Given the description of an element on the screen output the (x, y) to click on. 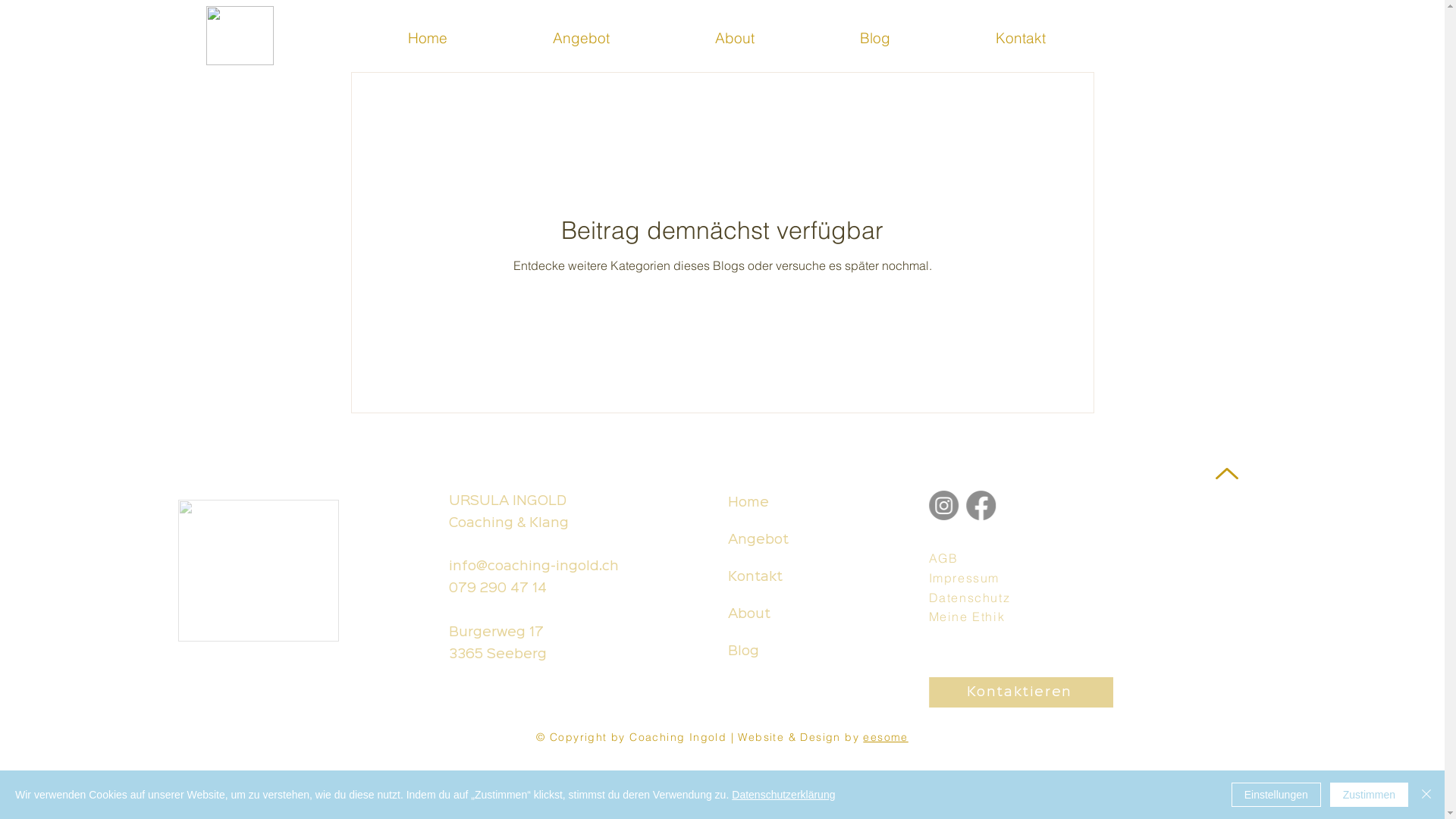
Home Element type: text (801, 502)
Blog Element type: text (915, 35)
Kontakt Element type: text (1061, 35)
Meine Ethik Element type: text (973, 617)
About Element type: text (795, 614)
Kontaktieren Element type: text (1025, 692)
Kontakt Element type: text (796, 577)
eesome Element type: text (884, 736)
Angebot Element type: text (798, 539)
Datenschutz Element type: text (976, 598)
Angebot Element type: text (622, 35)
info@coaching-ingold.ch Element type: text (555, 566)
AGB Element type: text (953, 558)
Blog Element type: text (794, 651)
Impressum Element type: text (973, 578)
About Element type: text (775, 35)
Home Element type: text (467, 35)
